Given the description of an element on the screen output the (x, y) to click on. 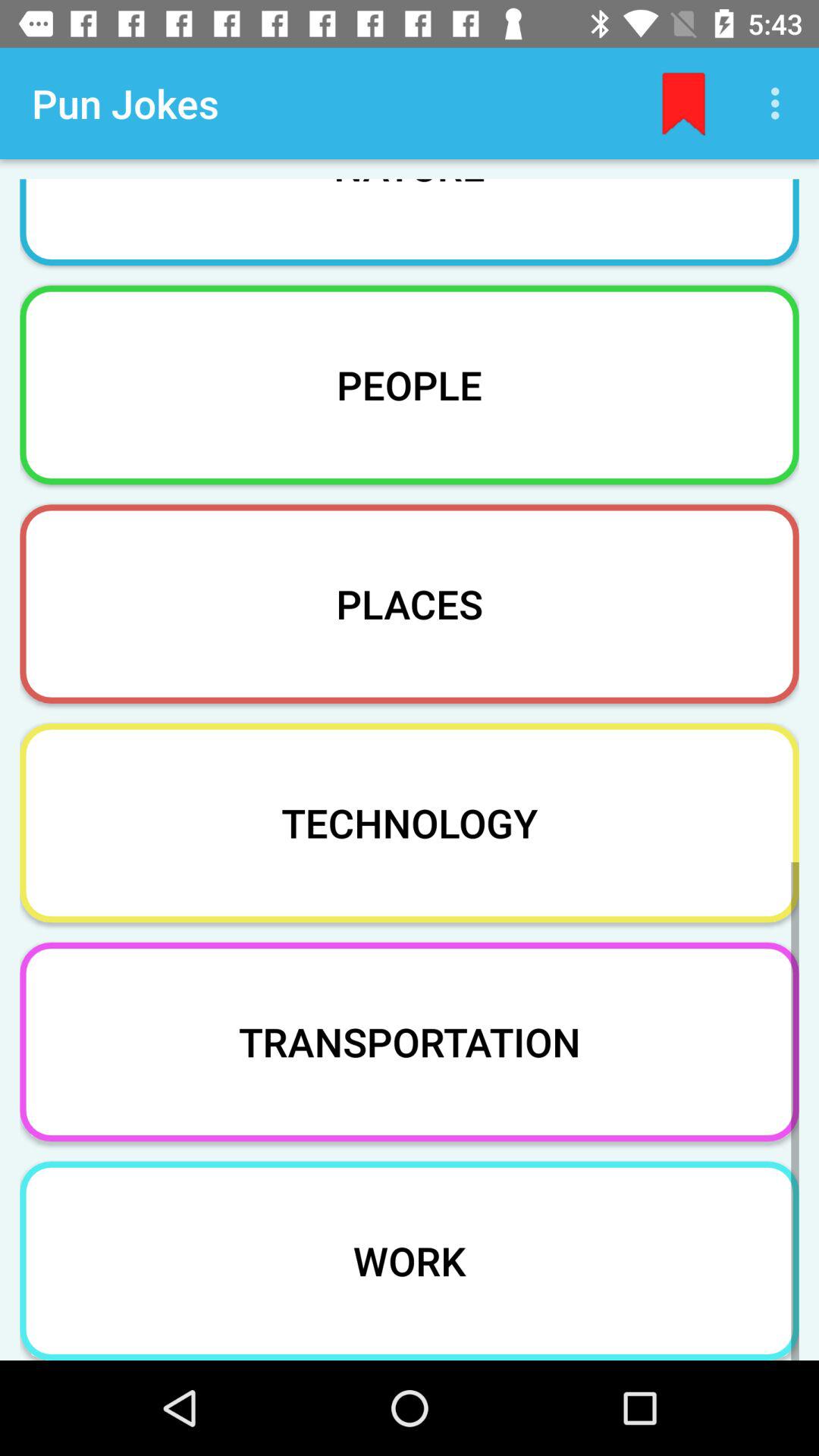
choose item above transportation item (409, 822)
